Given the description of an element on the screen output the (x, y) to click on. 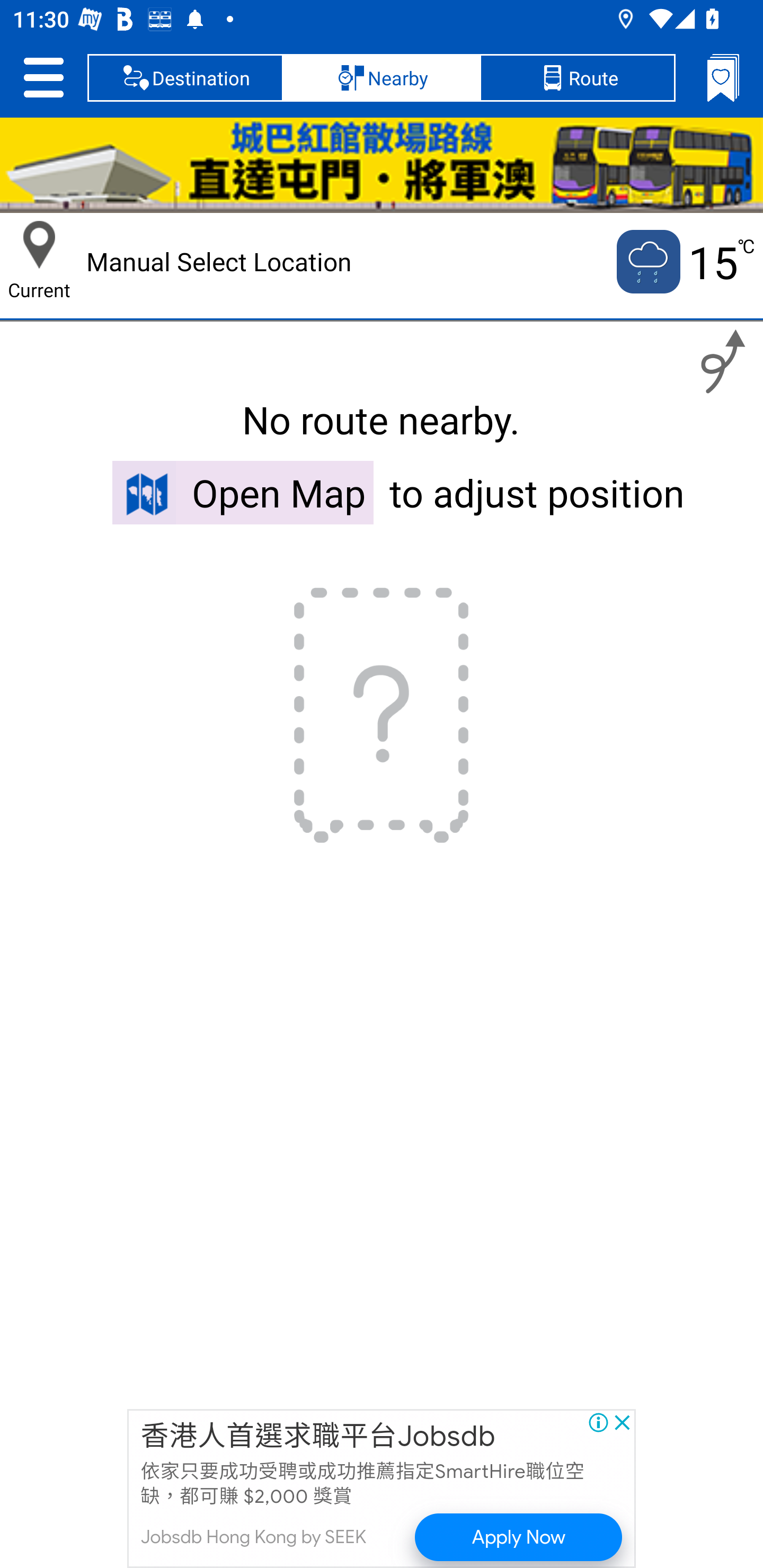
Destination (185, 77)
Nearby, selected (381, 77)
Route (577, 77)
Bookmarks (723, 77)
Setting (43, 77)
HKC (381, 165)
Current Location (38, 244)
Current temputure is  15  no 15 ℃ (684, 261)
Open Map (242, 491)
香港人首選求職平台Jobsdb (317, 1437)
Apply Now (519, 1537)
Jobsdb Hong Kong by SEEK (253, 1537)
